Given the description of an element on the screen output the (x, y) to click on. 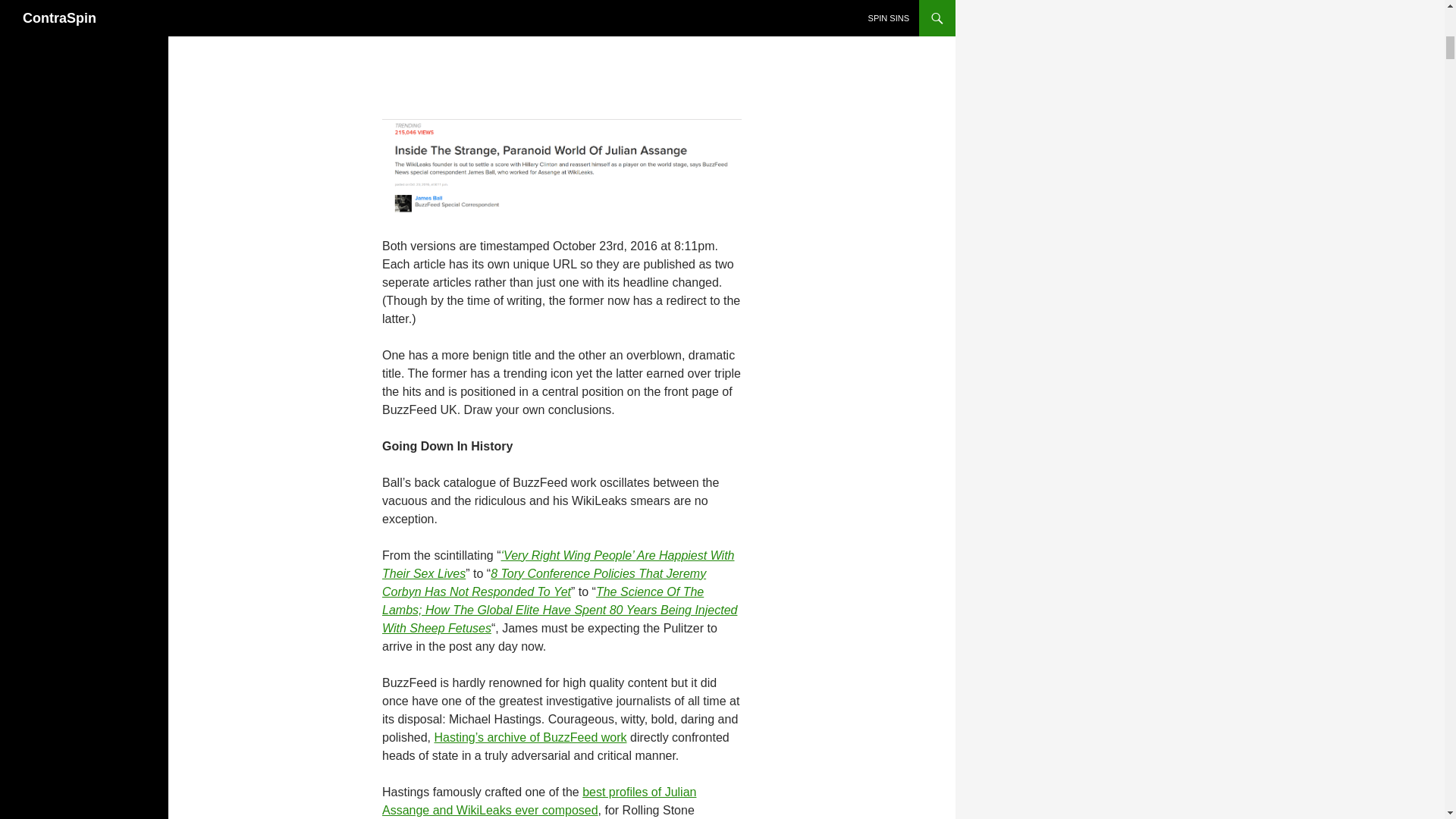
best profiles of Julian Assange and WikiLeaks ever composed (538, 800)
